Given the description of an element on the screen output the (x, y) to click on. 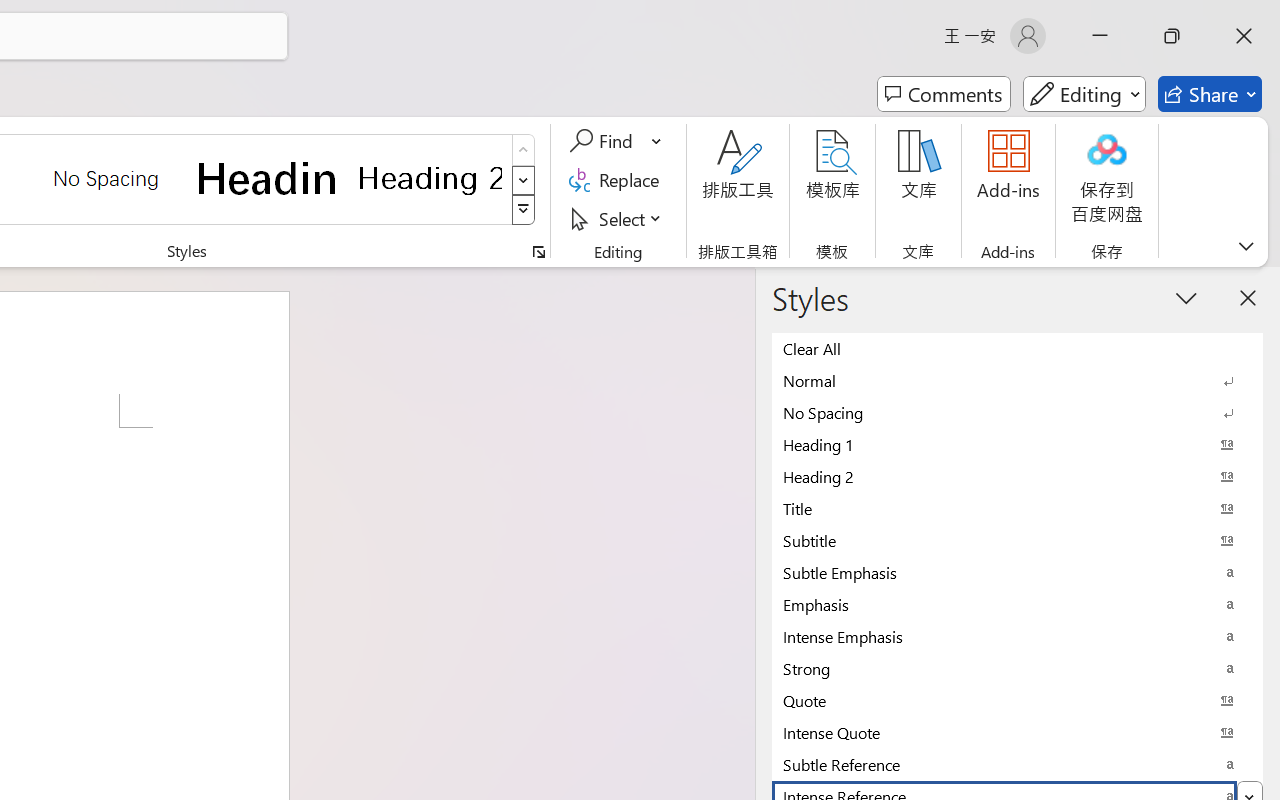
Row up (523, 150)
Quote (1017, 700)
Heading 2 (429, 178)
Intense Quote (1017, 732)
Heading 1 (267, 178)
Styles (523, 209)
Emphasis (1017, 604)
Task Pane Options (1186, 297)
Select (618, 218)
Normal (1017, 380)
Subtitle (1017, 540)
